Given the description of an element on the screen output the (x, y) to click on. 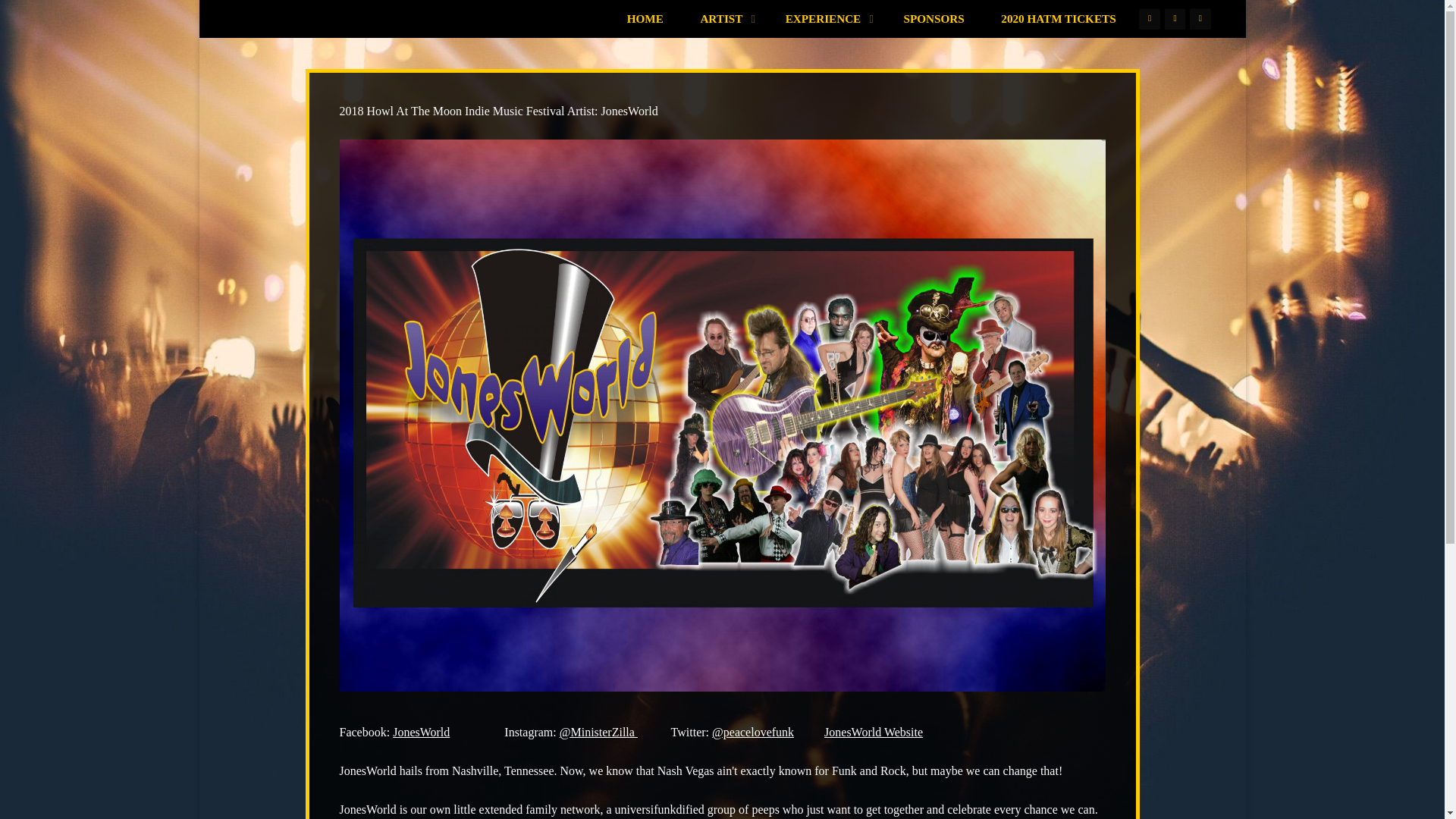
JonesWorld (421, 731)
SPONSORS (933, 18)
EXPERIENCE (826, 18)
JonesWorld Website (873, 731)
HOME (644, 18)
ARTIST (724, 18)
2020 HATM TICKETS (1058, 18)
